Given the description of an element on the screen output the (x, y) to click on. 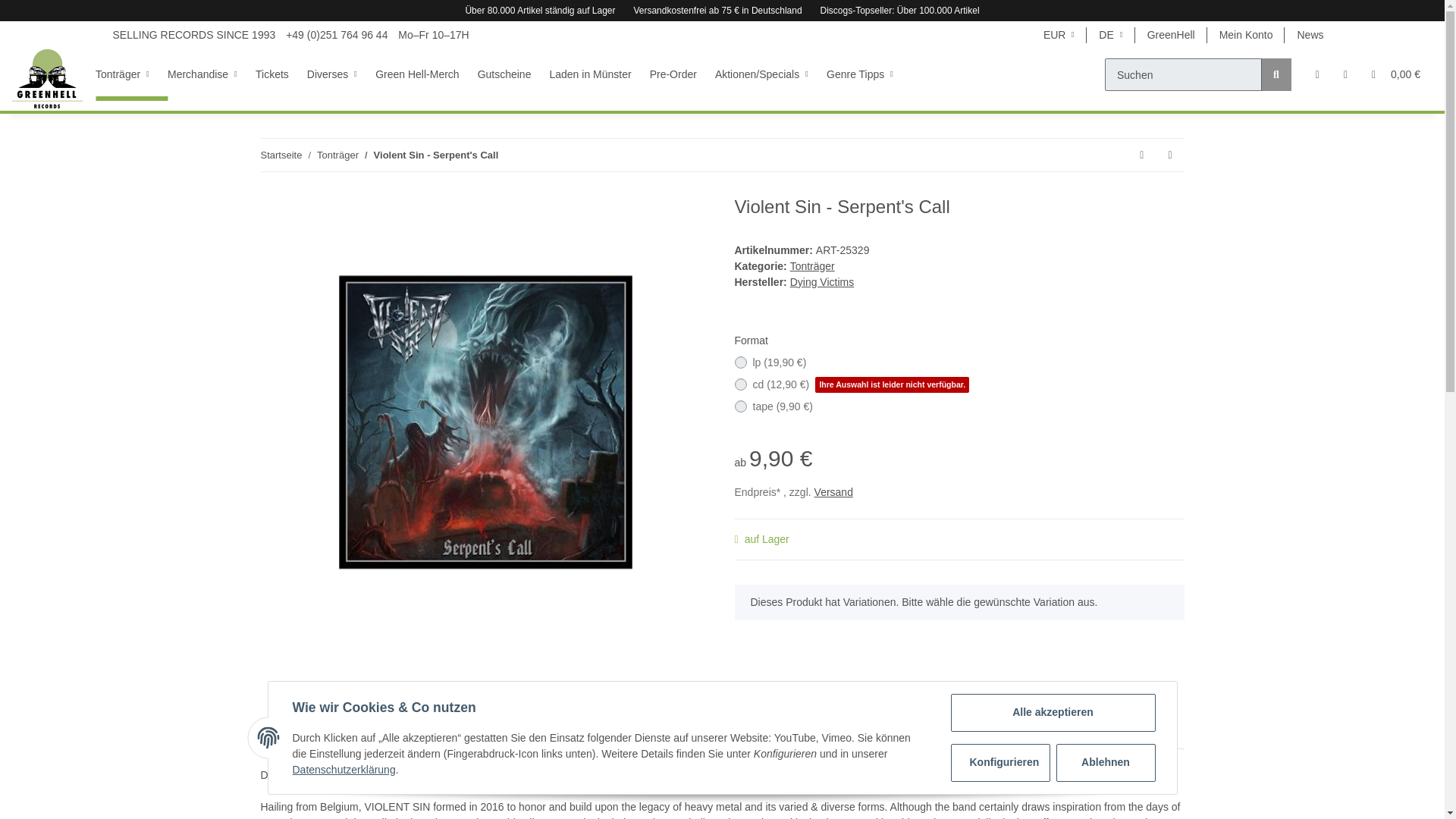
Green Hell-Merch (426, 74)
EUR (1058, 35)
Merchandise (211, 74)
Genre Tipps (869, 74)
Diverses (341, 74)
Tickets (281, 74)
Merchandise (211, 74)
Tickets (281, 74)
News (1309, 35)
Green Hell (46, 79)
Diverses (341, 74)
Genre Tipps (869, 74)
Aktuelle Neuigkeiten (1309, 35)
Gutscheine (513, 74)
DE (1110, 35)
